Given the description of an element on the screen output the (x, y) to click on. 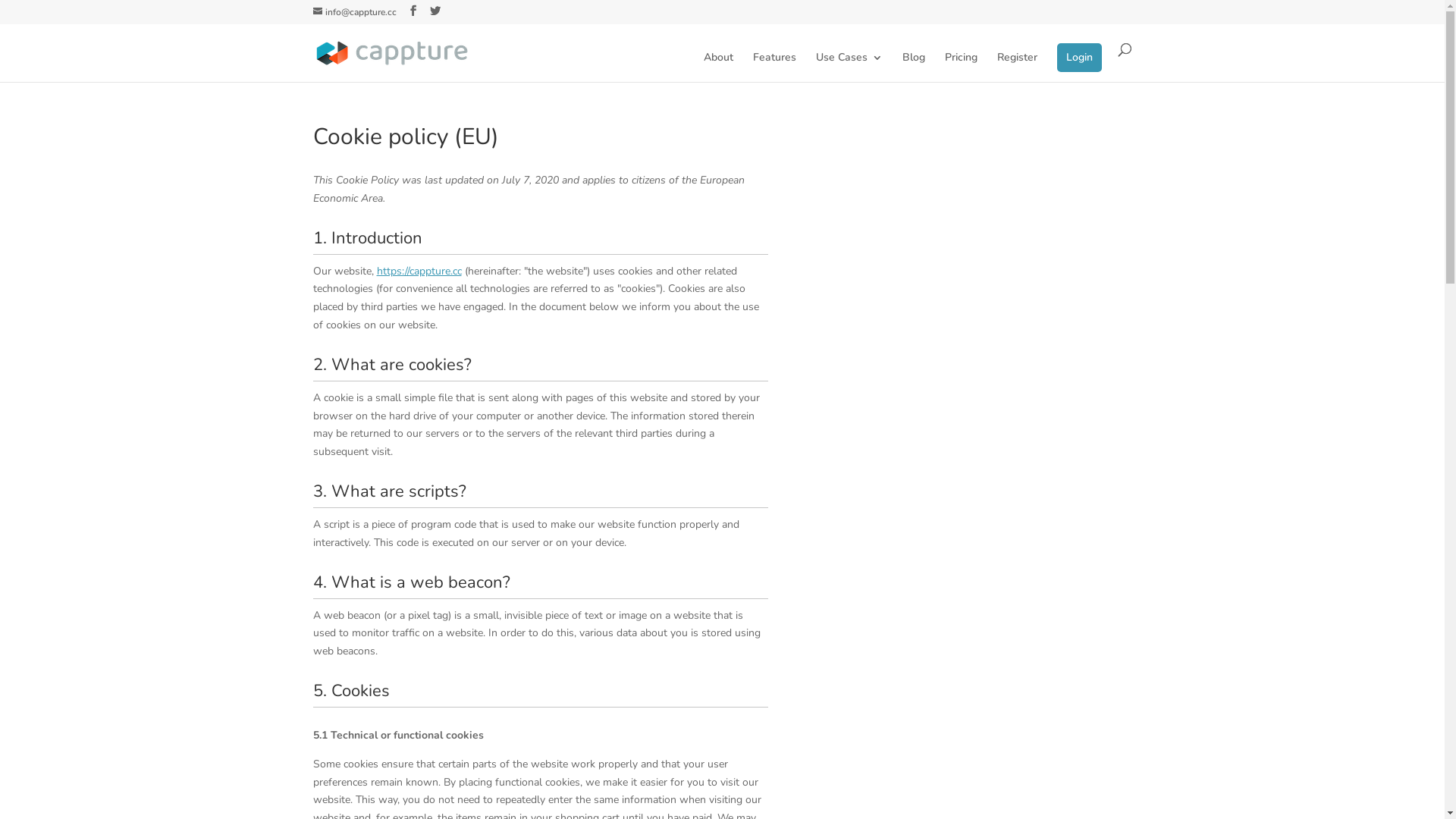
Register Element type: text (1016, 66)
Features Element type: text (773, 66)
Login Element type: text (1079, 57)
Use Cases Element type: text (848, 66)
About Element type: text (718, 66)
Blog Element type: text (913, 66)
https://cappture.cc Element type: text (418, 270)
info@cappture.cc Element type: text (353, 12)
Pricing Element type: text (960, 66)
